Given the description of an element on the screen output the (x, y) to click on. 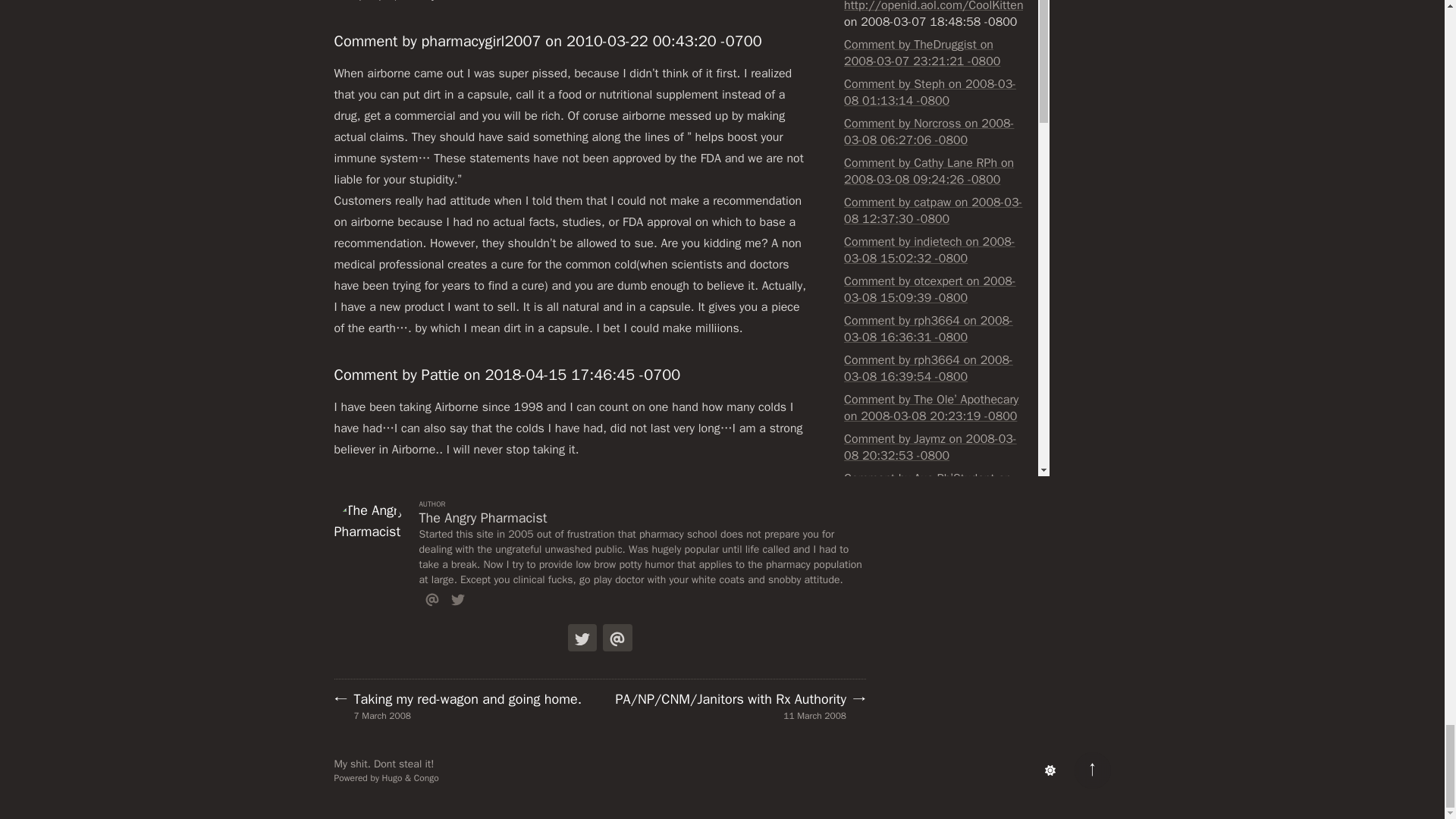
Tweet on Twitter (581, 637)
Send via email (616, 637)
